Given the description of an element on the screen output the (x, y) to click on. 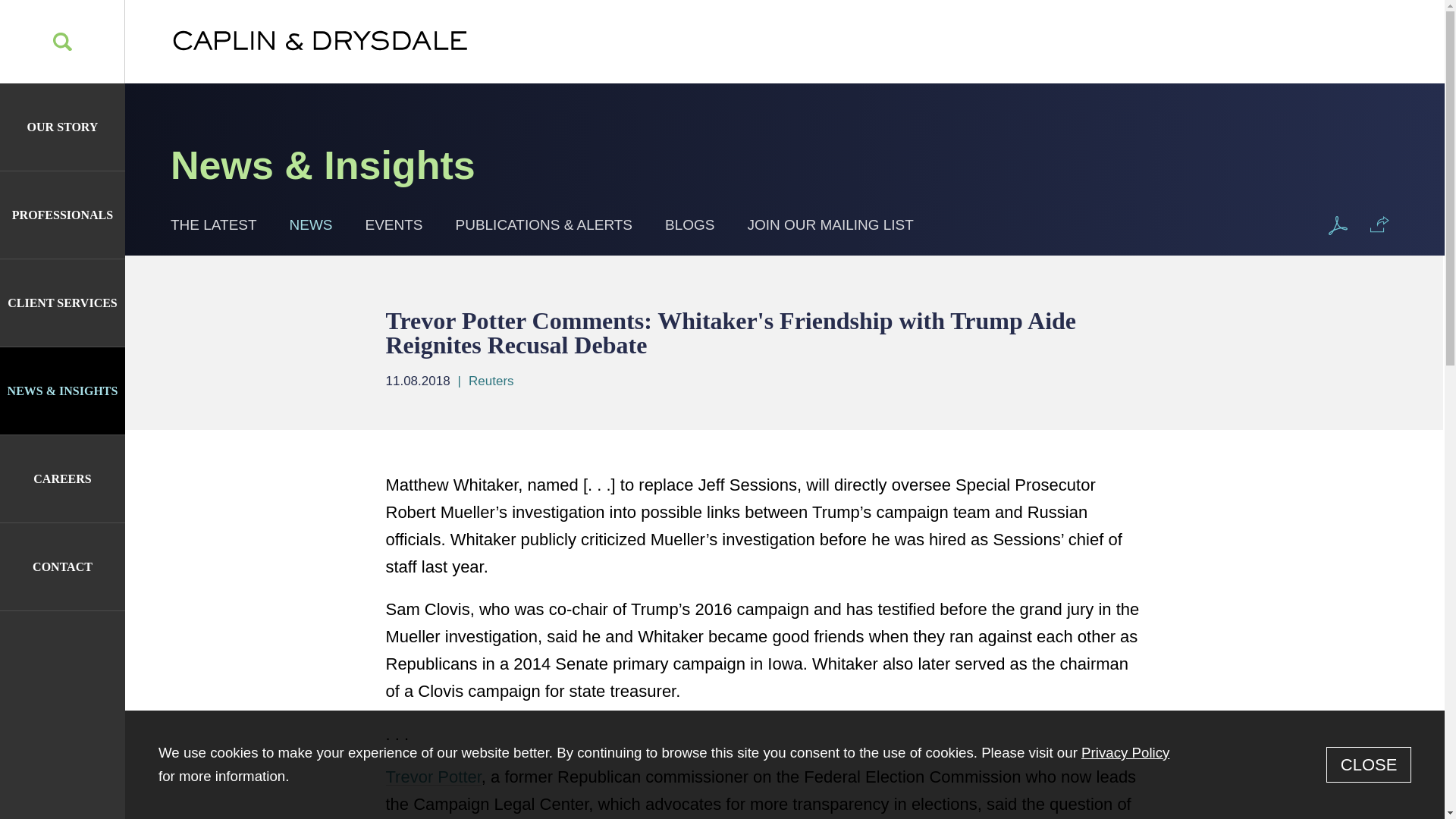
Main Content (660, 21)
CONTACT (62, 566)
OUR STORY (62, 126)
PROFESSIONALS (62, 214)
Menu (669, 21)
CAREERS (62, 478)
Main Menu (669, 21)
CLIENT SERVICES (62, 302)
Share (1379, 224)
